Given the description of an element on the screen output the (x, y) to click on. 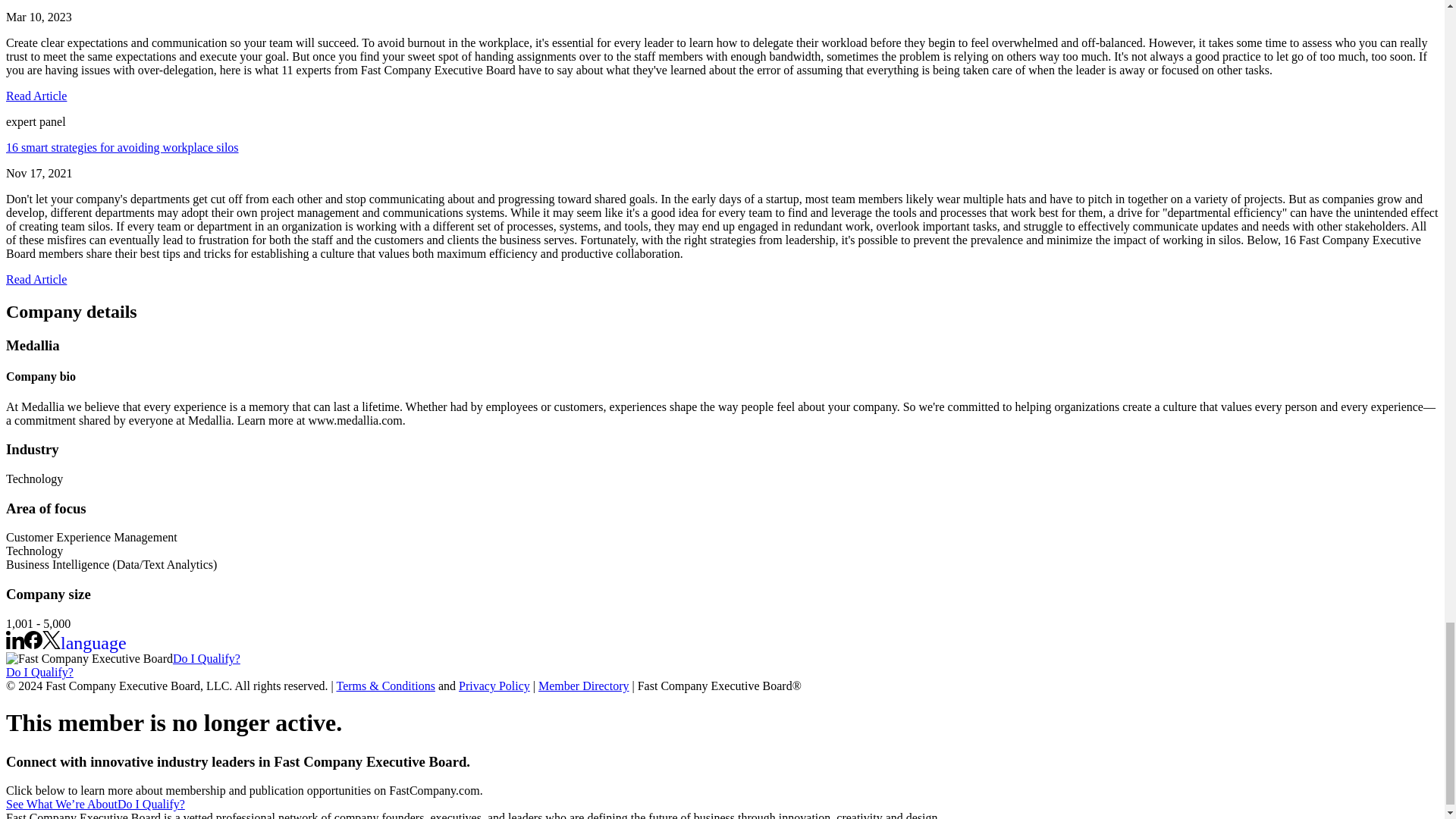
Privacy Policy (493, 685)
X (51, 639)
Do I Qualify? (206, 658)
Member Directory (583, 685)
16 smart strategies for avoiding workplace silos (121, 146)
LinkedIn (14, 644)
Facebook (33, 644)
LinkedIn (14, 639)
Do I Qualify? (39, 671)
language (93, 644)
X (51, 644)
Read Article (35, 278)
Facebook (33, 639)
Read Article (35, 95)
Do I Qualify? (150, 803)
